Given the description of an element on the screen output the (x, y) to click on. 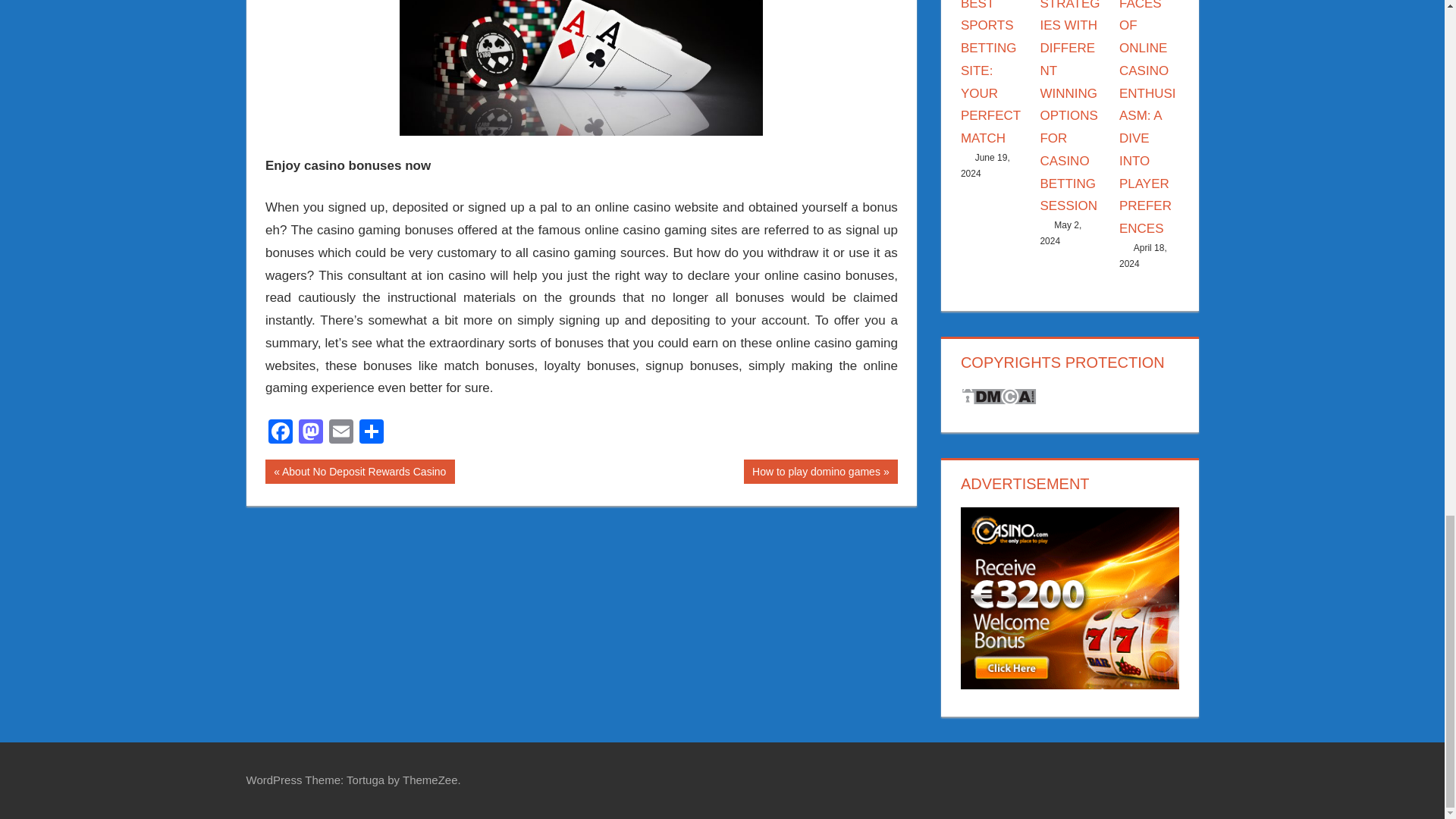
Facebook (279, 433)
Mastodon (821, 471)
Mastodon (359, 471)
Facebook (310, 433)
Share (310, 433)
Email (279, 433)
Email (371, 433)
